Given the description of an element on the screen output the (x, y) to click on. 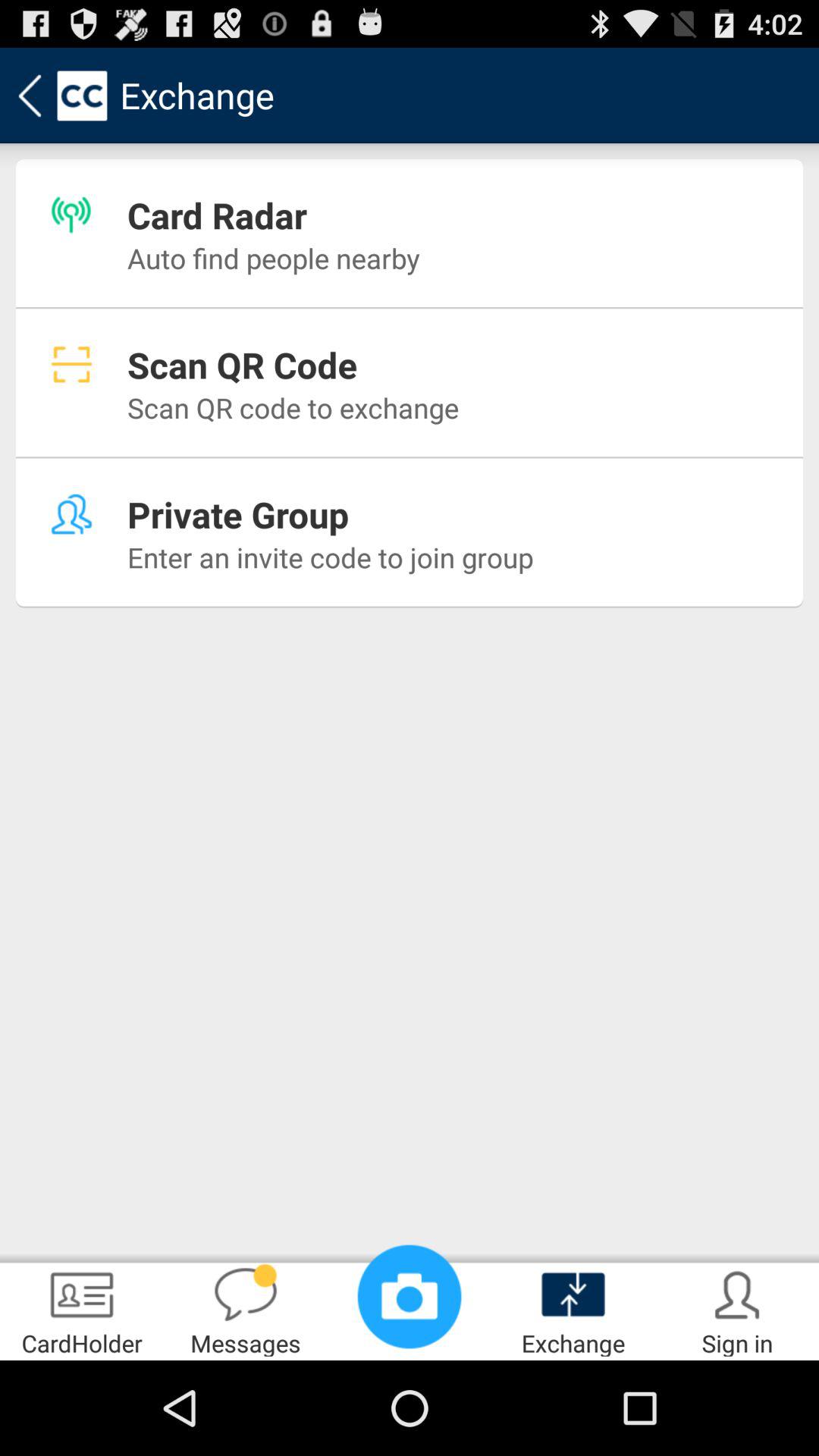
tap the item next to messages (409, 1296)
